Given the description of an element on the screen output the (x, y) to click on. 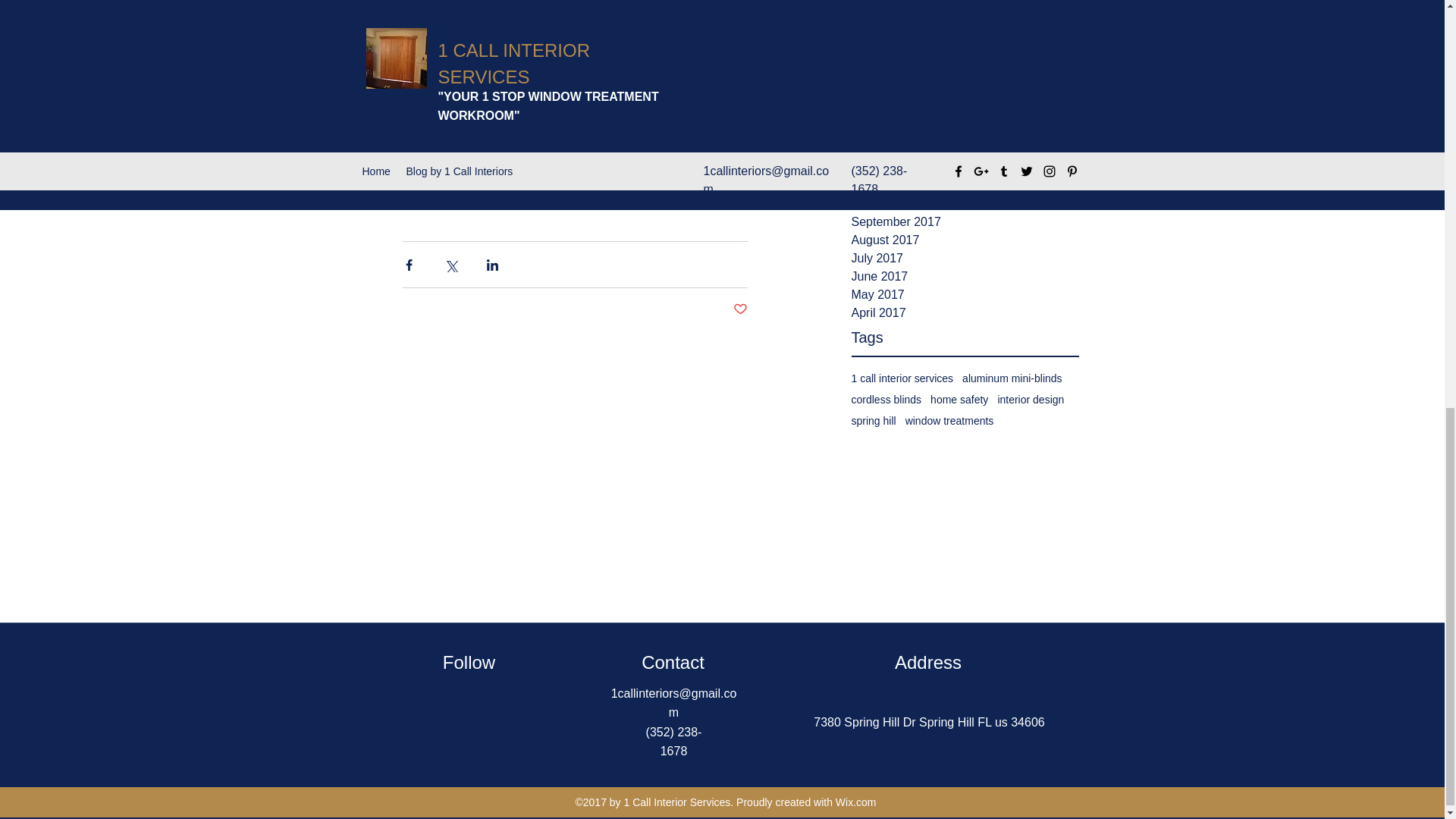
November 2017 (964, 185)
March 2018 (964, 149)
1 call interior services (901, 378)
December 2019 (964, 40)
December 2018 (964, 113)
April 2017 (964, 312)
May 2017 (964, 294)
April 2018 (964, 131)
September 2017 (964, 221)
February 2020 (964, 6)
July 2017 (964, 258)
August 2017 (964, 239)
January 2018 (964, 167)
October 2019 (964, 76)
October 2017 (964, 203)
